Given the description of an element on the screen output the (x, y) to click on. 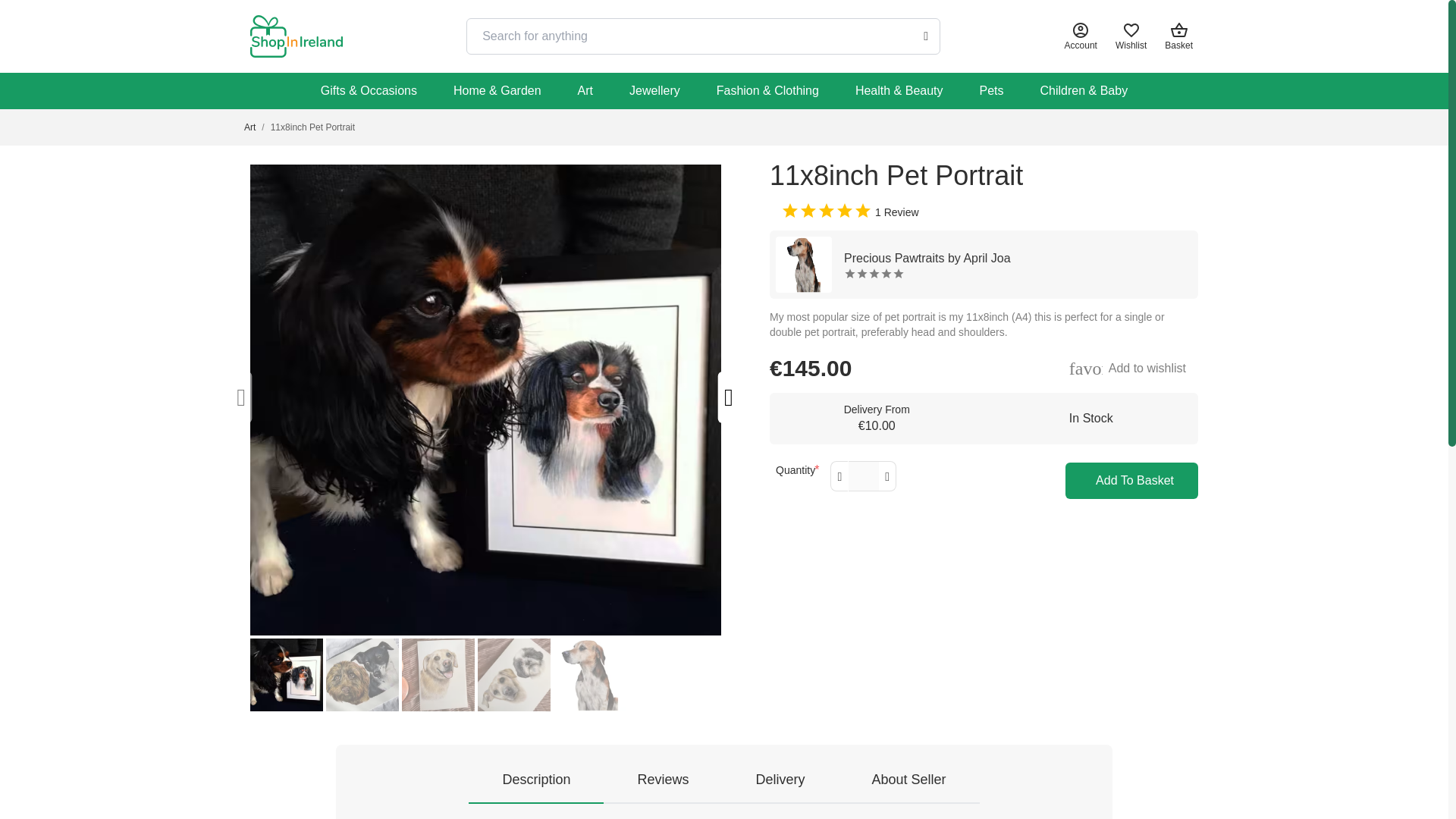
Wishlist (1131, 36)
Precious Pawtraits by April Joa (984, 264)
Jewellery (654, 90)
Add product to wishlist (1127, 368)
1 Review (857, 210)
Add To Basket (1131, 480)
Pets (991, 90)
Account (1080, 36)
Art (250, 127)
Basket (1181, 36)
Art (585, 90)
